Given the description of an element on the screen output the (x, y) to click on. 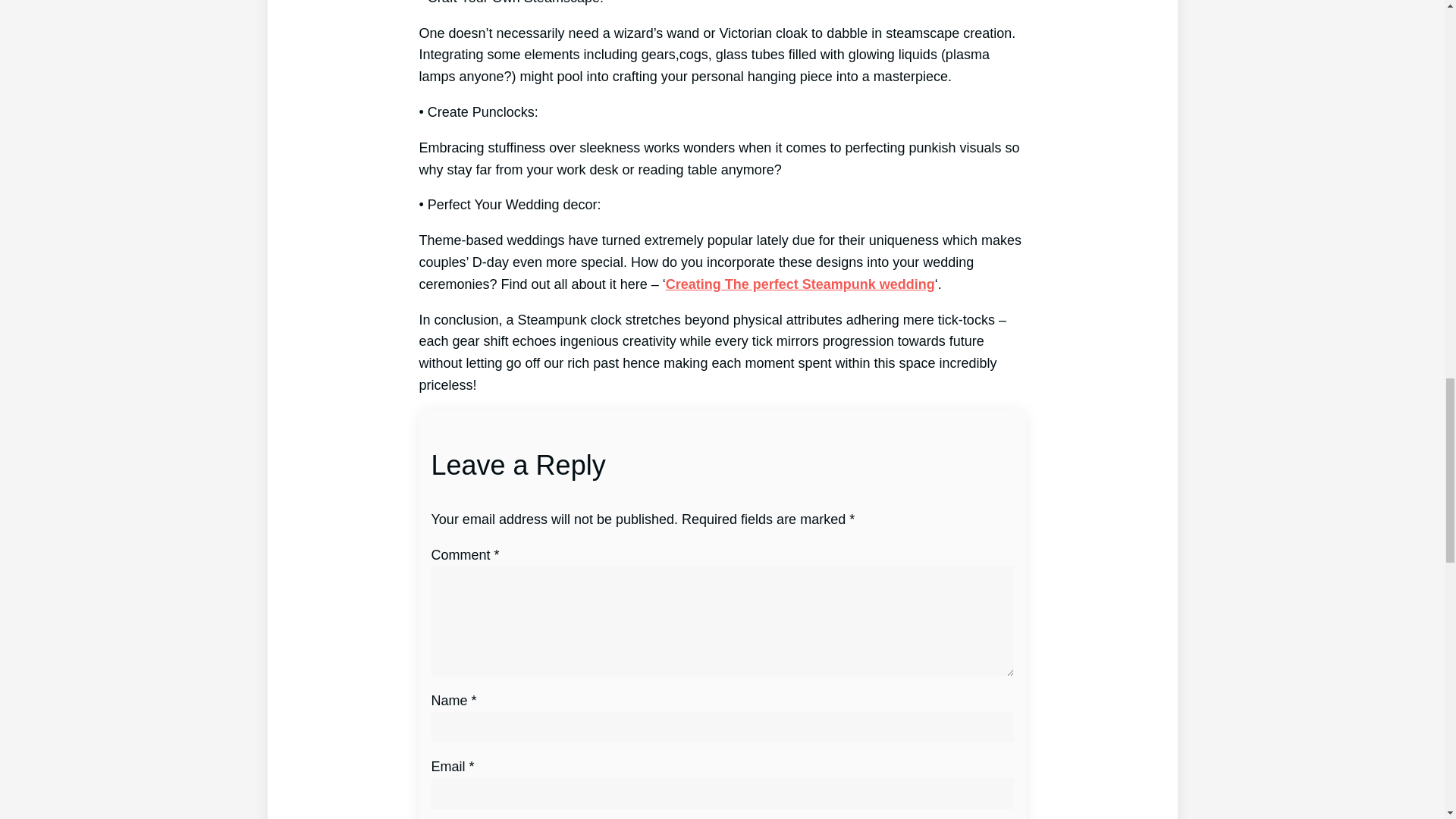
Creating The perfect Steampunk wedding (799, 283)
